Given the description of an element on the screen output the (x, y) to click on. 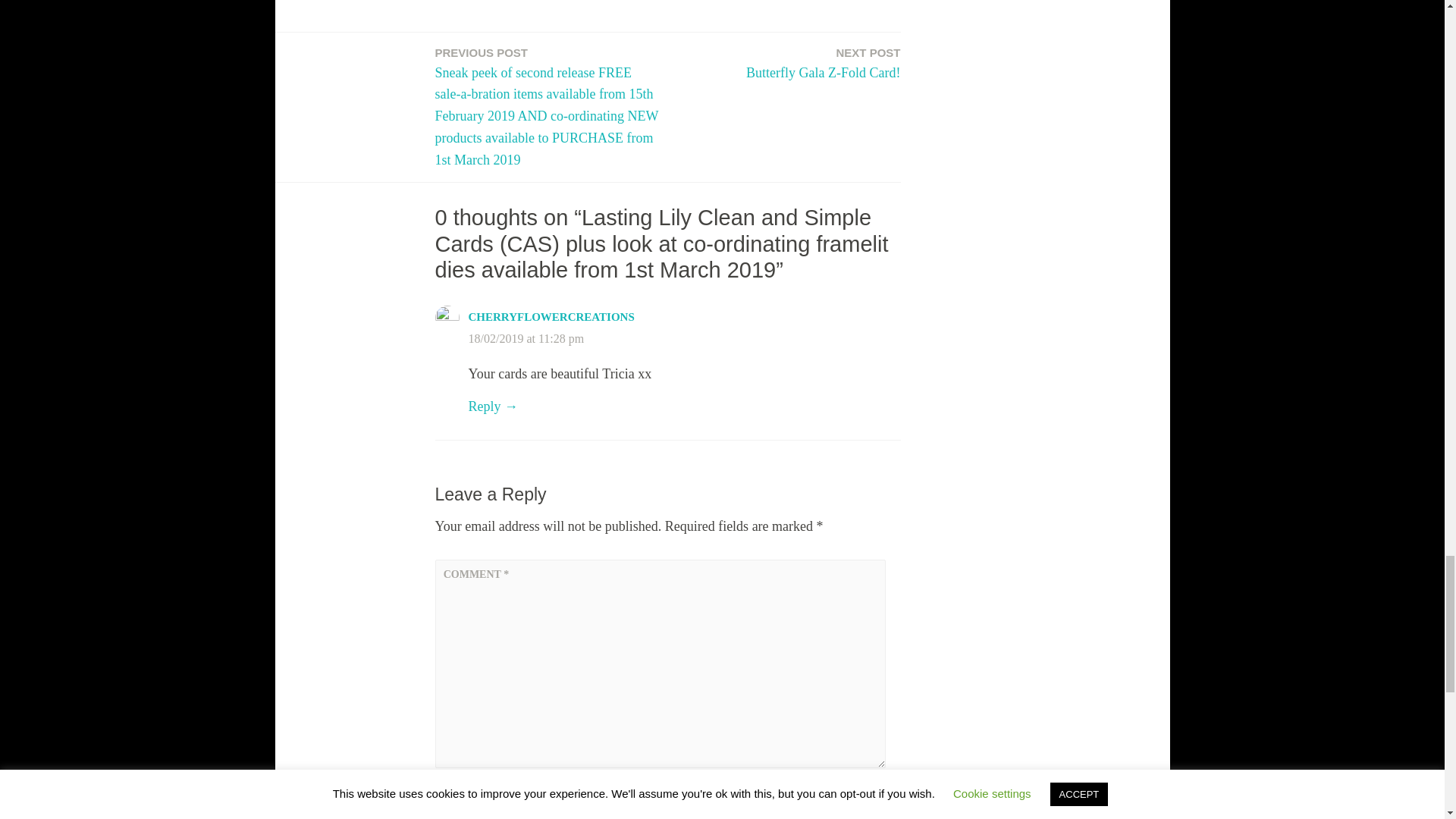
Reply (493, 406)
CHERRYFLOWERCREATIONS (551, 316)
